Given the description of an element on the screen output the (x, y) to click on. 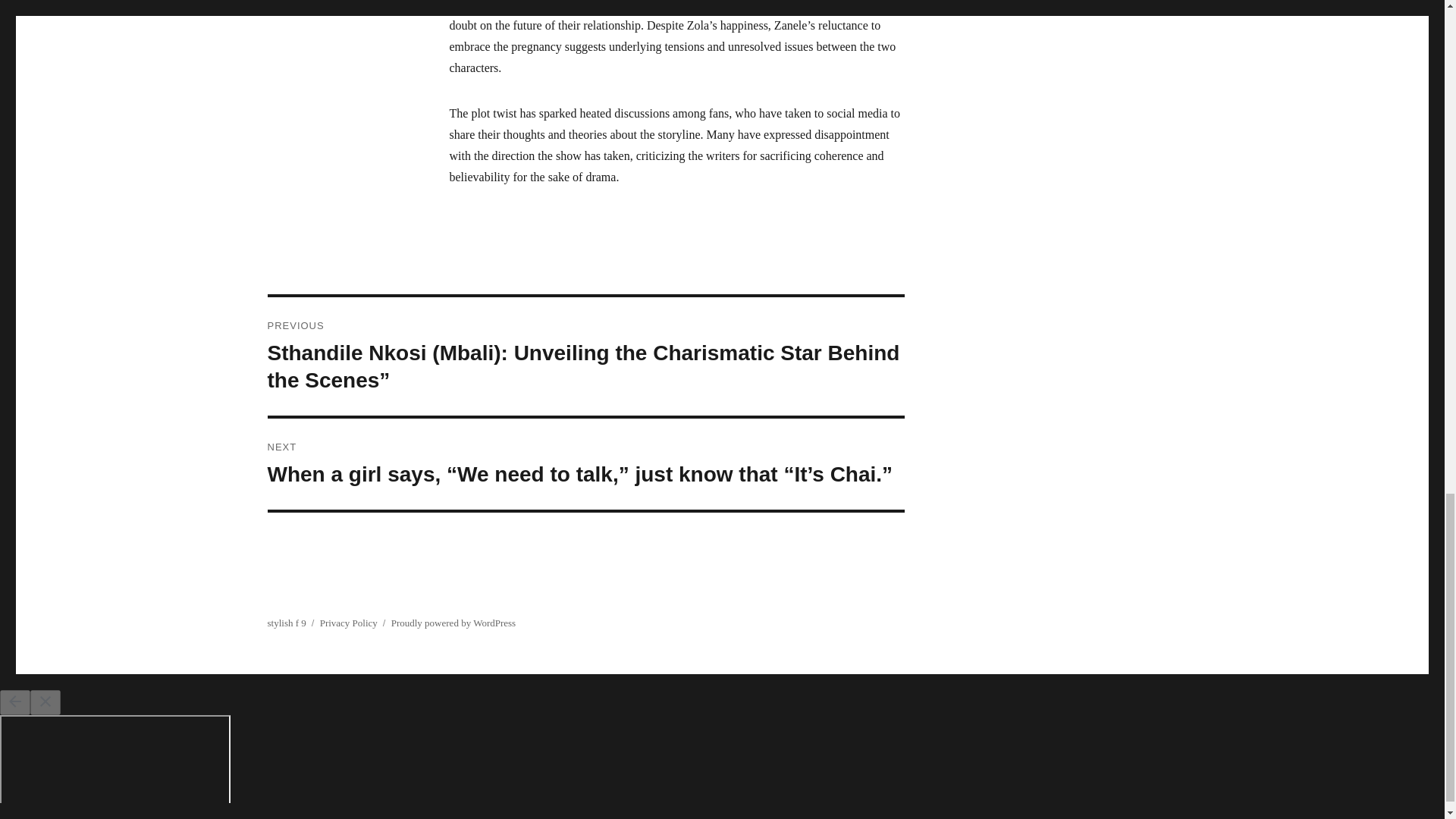
Proudly powered by WordPress (453, 622)
stylish f 9 (285, 622)
Privacy Policy (348, 622)
